Given the description of an element on the screen output the (x, y) to click on. 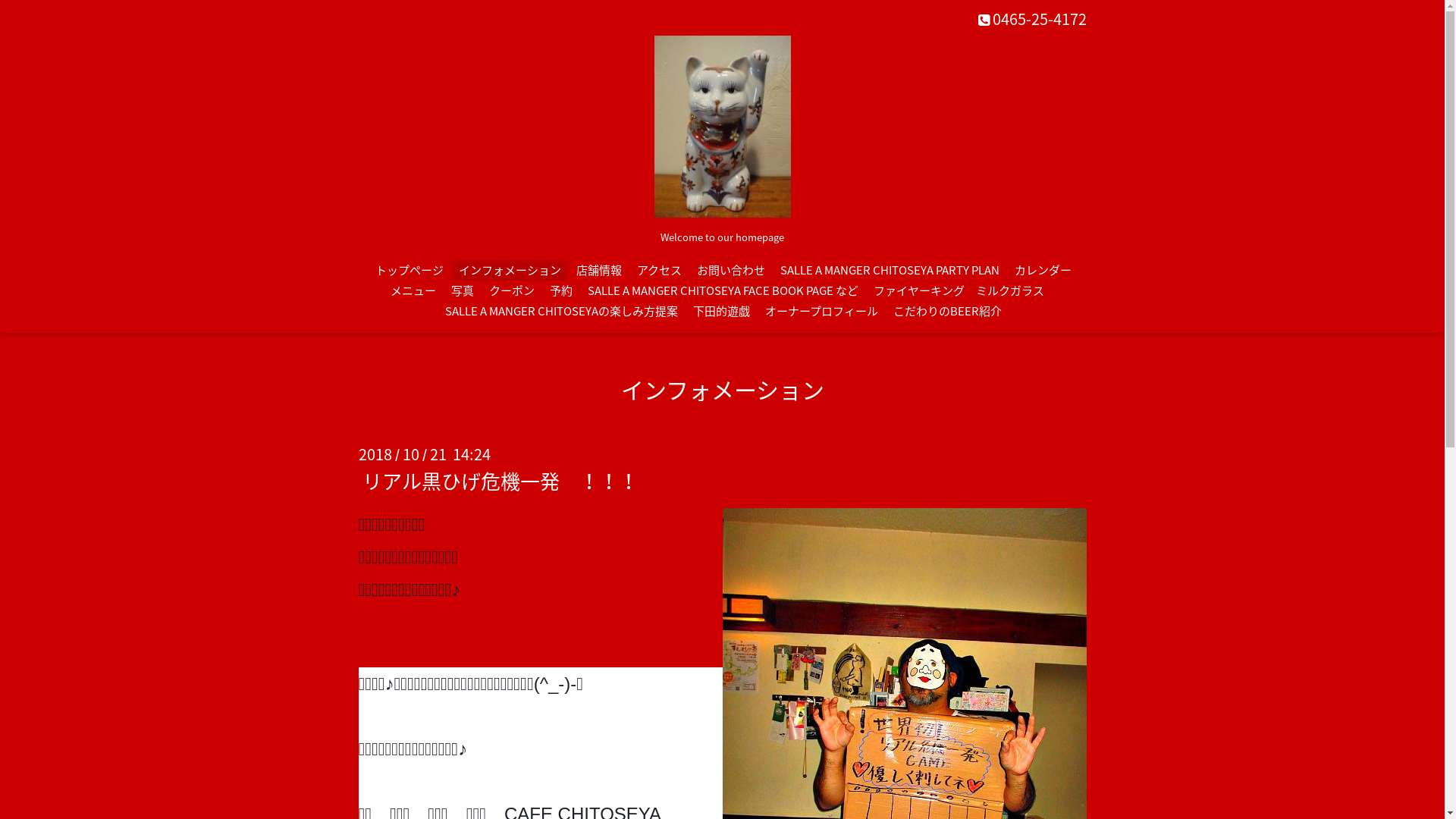
SALLE A MANGER CHITOSEYA PARTY PLAN Element type: text (889, 270)
